Given the description of an element on the screen output the (x, y) to click on. 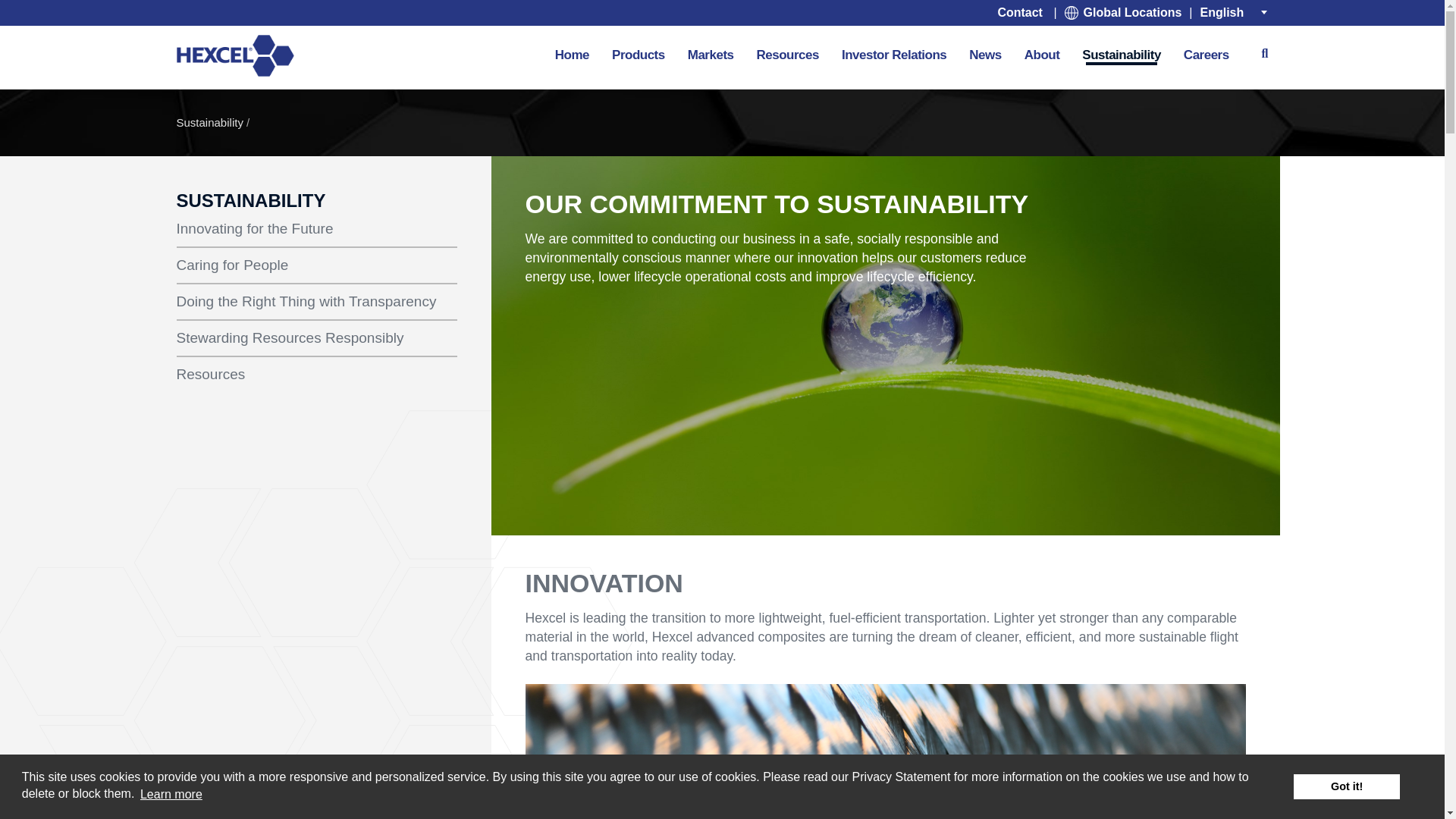
Home (235, 55)
Innovating for the Future (316, 228)
Choose language (1233, 11)
Products (638, 53)
Doing the Right Thing with Transparency (316, 301)
Learn more (171, 793)
Markets (711, 53)
About (1042, 53)
Contact (1019, 12)
Got it! (1346, 786)
News (984, 53)
Caring for People (316, 265)
Investor Relations (893, 53)
SUSTAINABILITY (250, 200)
Global Locations (1123, 12)
